Given the description of an element on the screen output the (x, y) to click on. 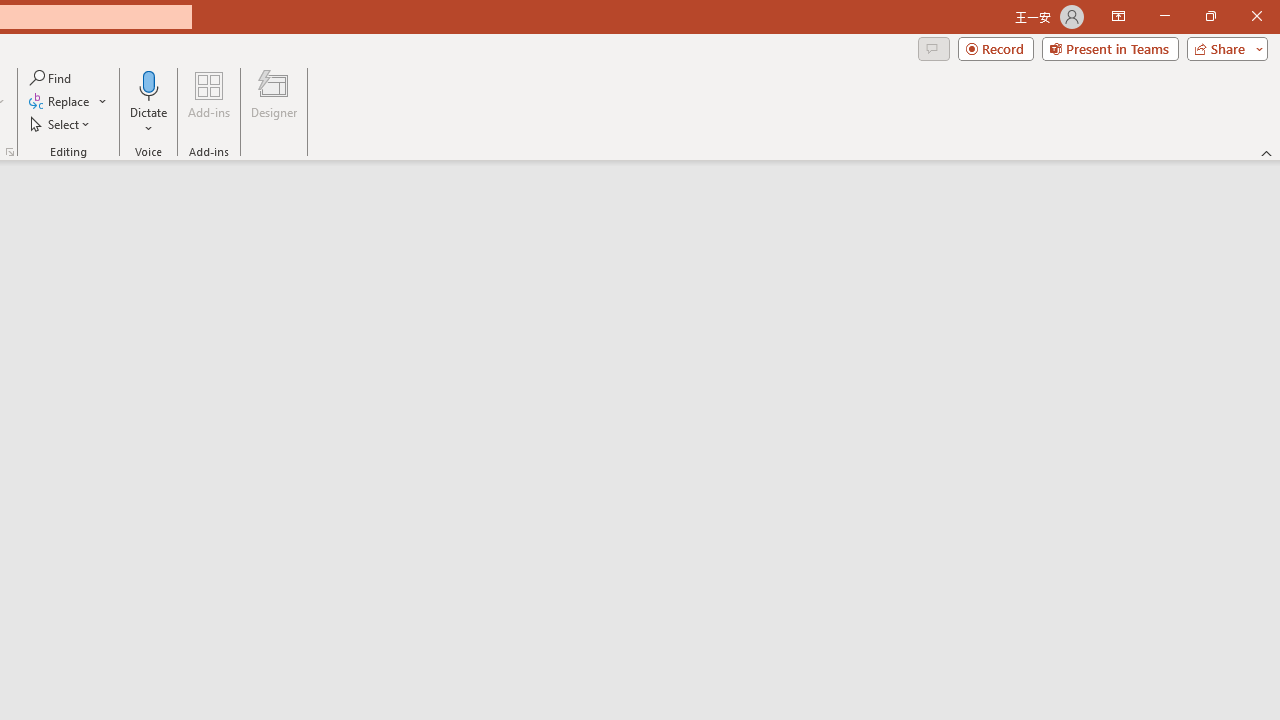
Dictate (149, 84)
Ribbon Display Options (1118, 16)
Share (1223, 48)
